Given the description of an element on the screen output the (x, y) to click on. 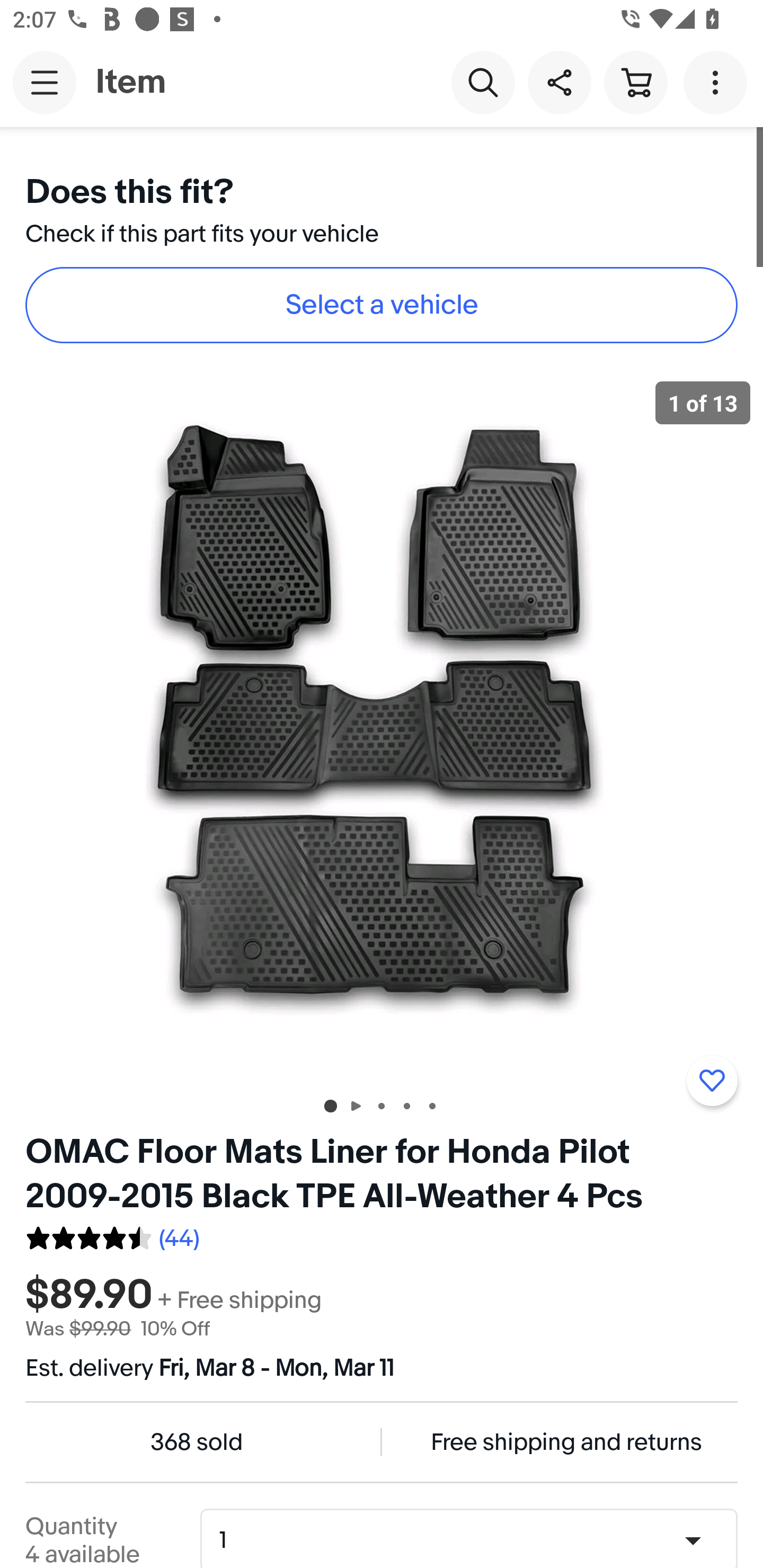
Main navigation, open (44, 82)
Search (482, 81)
Share this item (559, 81)
Cart button shopping cart (635, 81)
More options (718, 81)
Select a vehicle (381, 304)
Item image 1 of 13 (381, 724)
Add to watchlist (711, 1080)
Quantity,1,4 available 1 (474, 1540)
